Given the description of an element on the screen output the (x, y) to click on. 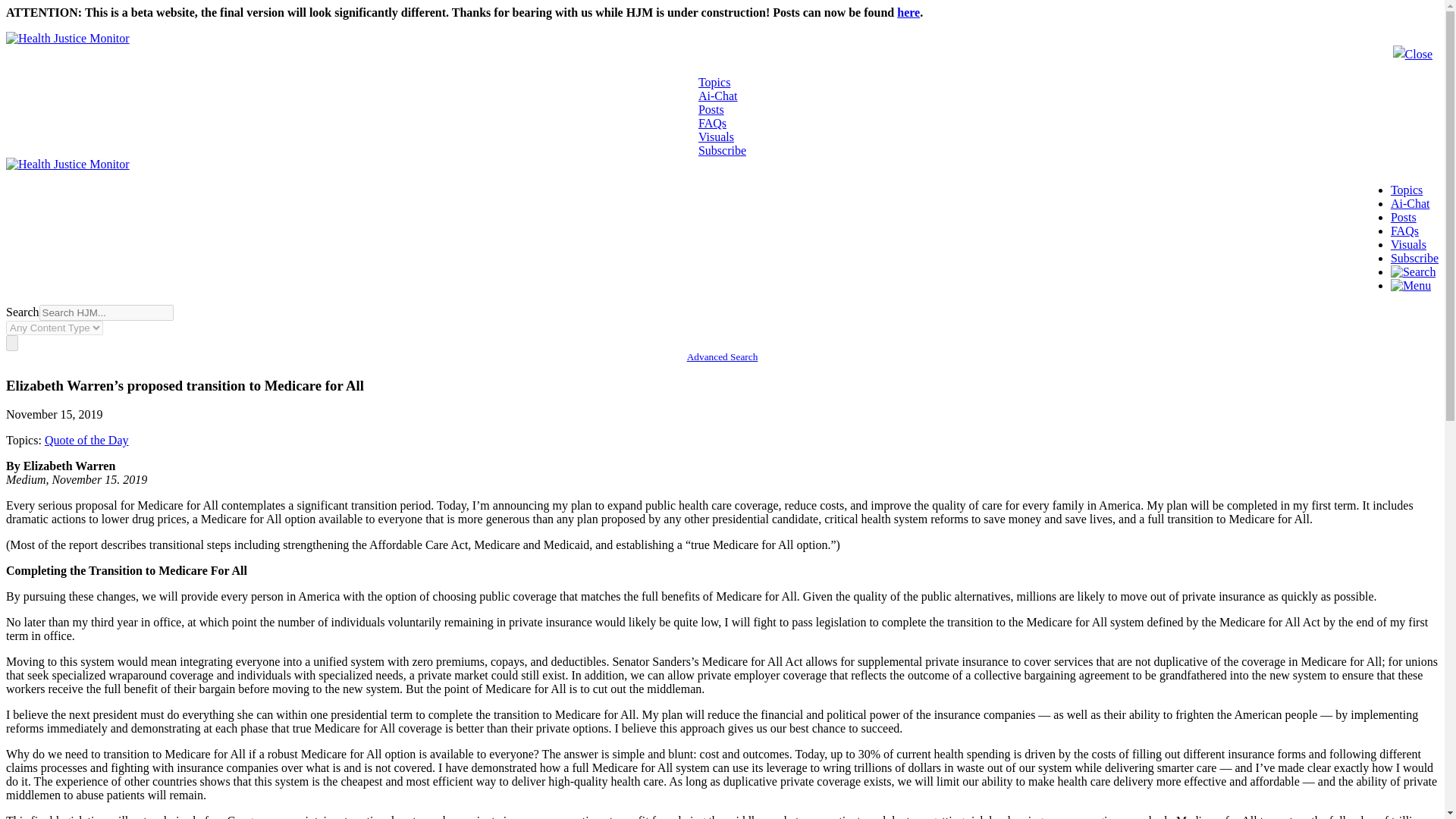
Subscribe (721, 150)
Visuals (715, 136)
Topic within  (87, 440)
FAQs (1404, 230)
Ai-Chat (718, 95)
Ai-Chat (1409, 203)
FAQs (712, 123)
Visuals (1408, 244)
Posts (1403, 216)
Advanced Search (722, 356)
Topics (714, 82)
Quote of the Day (87, 440)
Posts (710, 109)
here (908, 11)
Topics (1406, 189)
